Given the description of an element on the screen output the (x, y) to click on. 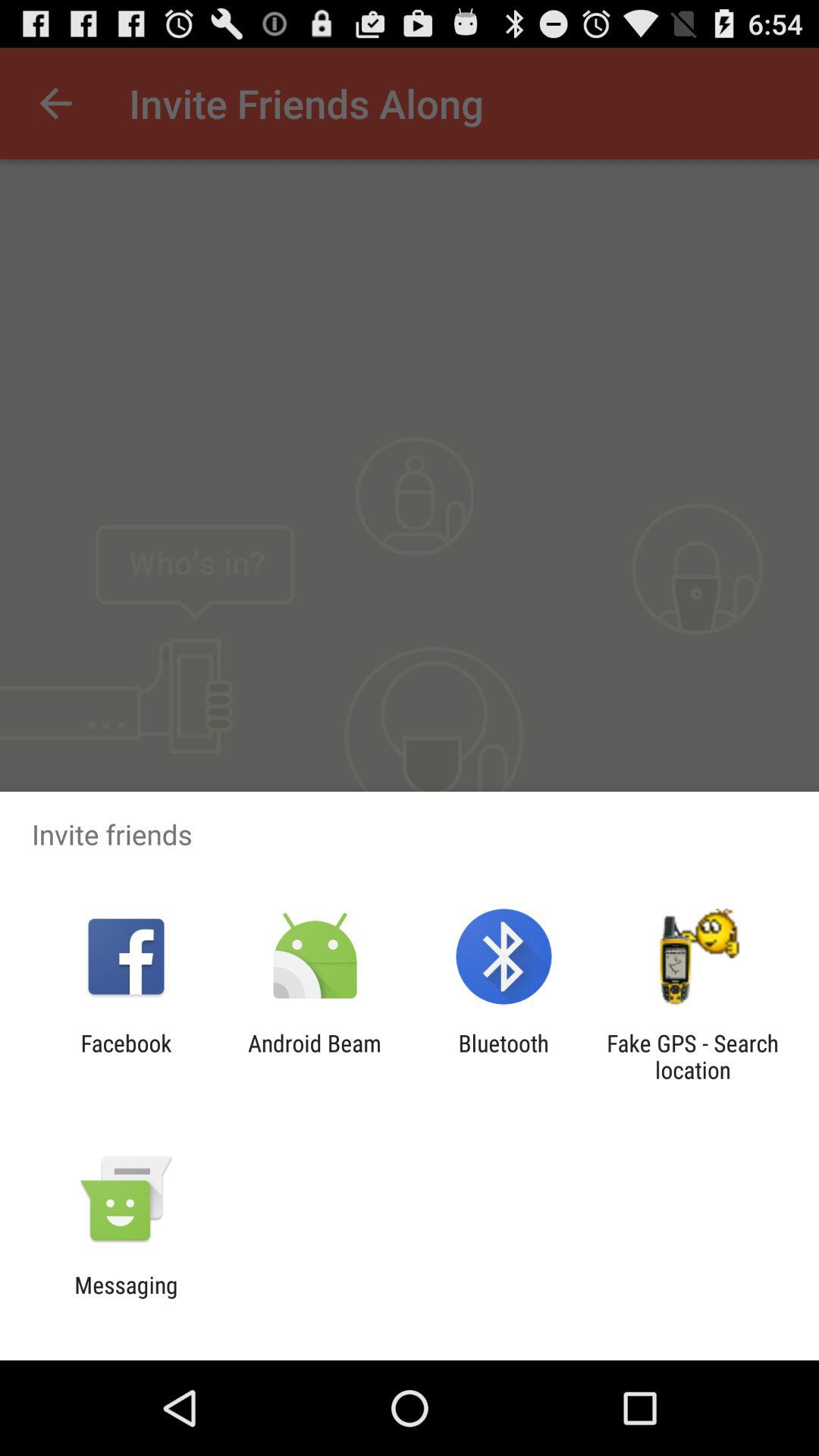
choose the icon to the right of facebook icon (314, 1056)
